Given the description of an element on the screen output the (x, y) to click on. 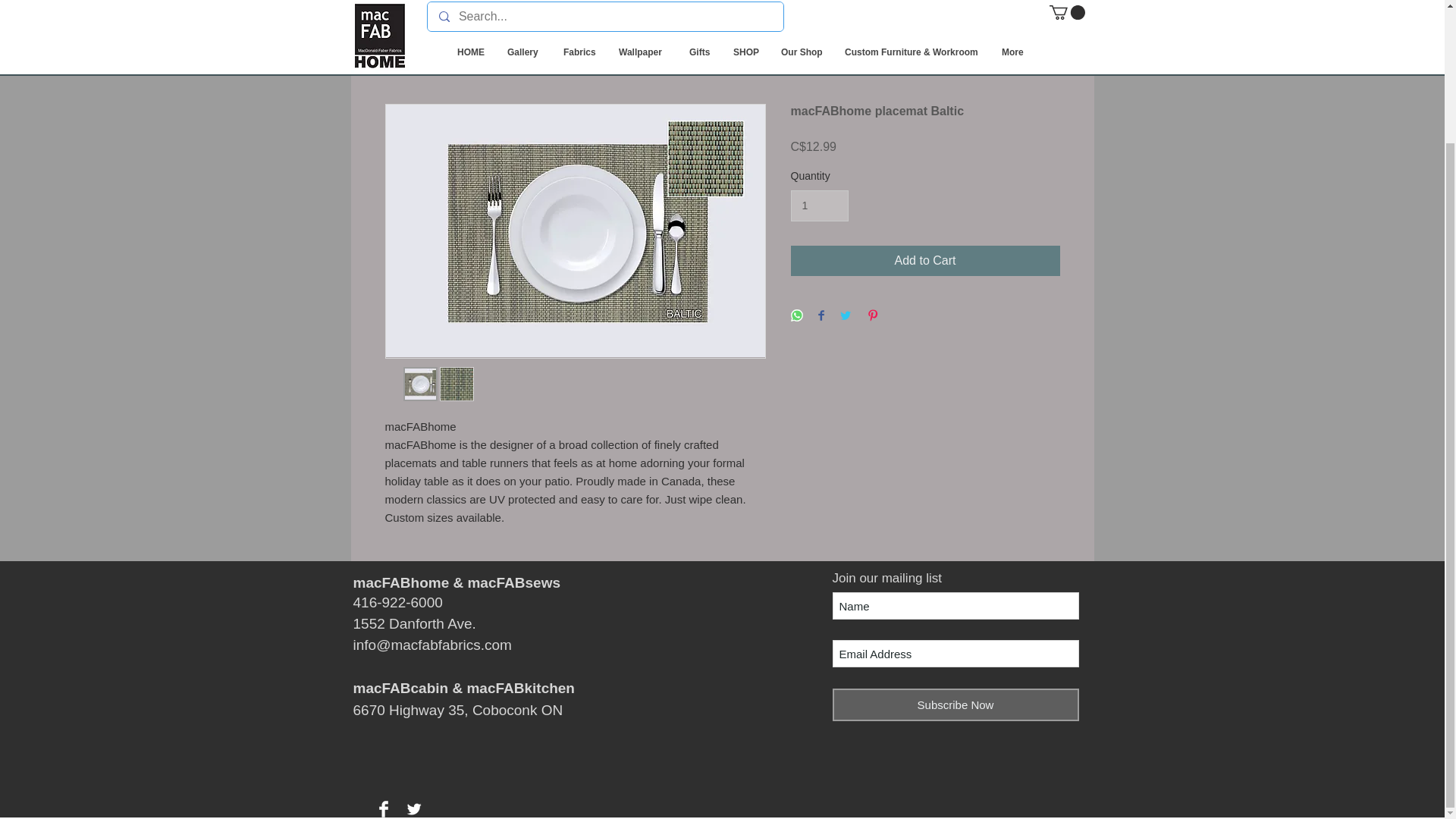
1 (818, 205)
